Given the description of an element on the screen output the (x, y) to click on. 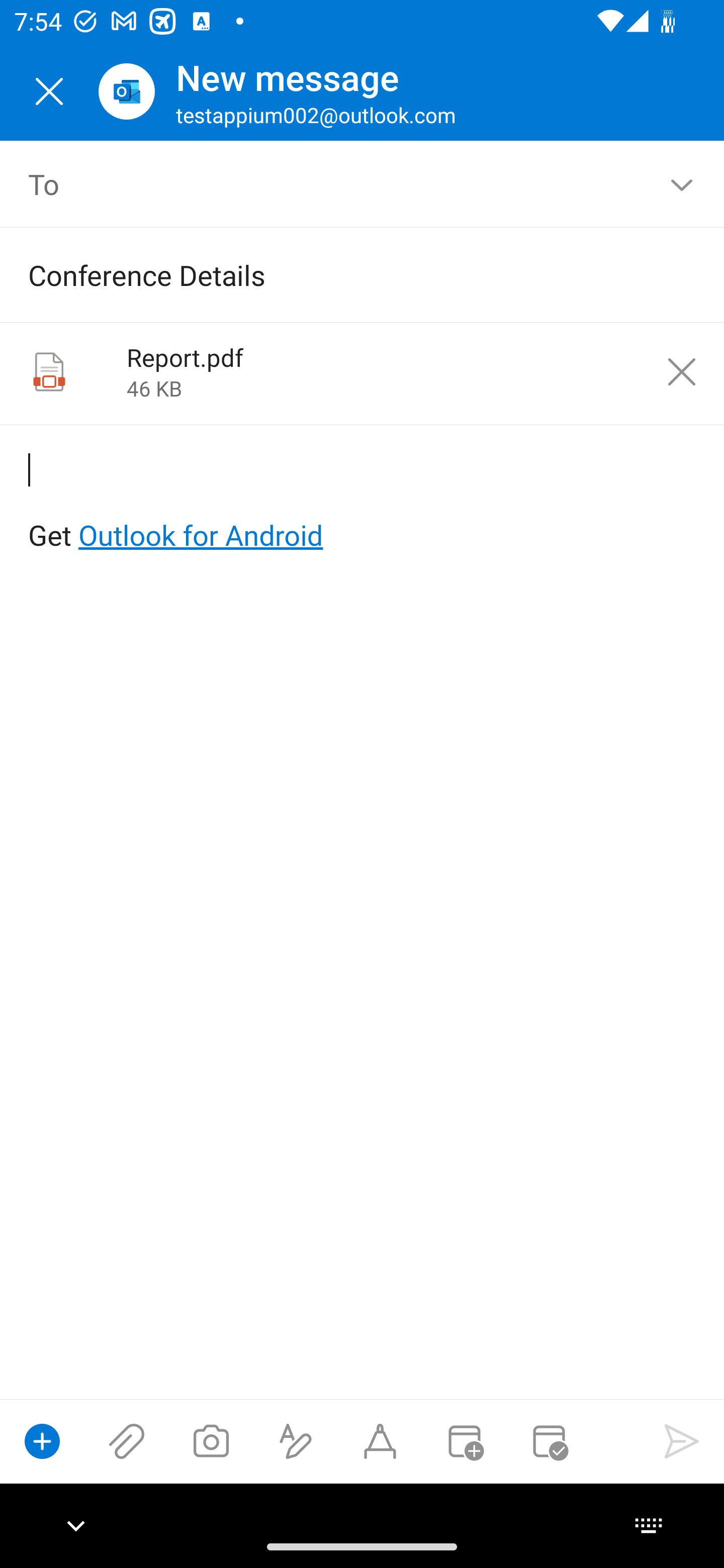
Close (49, 91)
Conference Details (333, 274)
Report.pdf 46 KB Remove attachment Report.pdf (362, 373)
Remove attachment Report.pdf (681, 372)
Show compose options (42, 1440)
Attach files (126, 1440)
Take a photo (210, 1440)
Show formatting options (295, 1440)
Start Ink compose (380, 1440)
Convert to event (464, 1440)
Send availability (548, 1440)
Send (681, 1440)
